Given the description of an element on the screen output the (x, y) to click on. 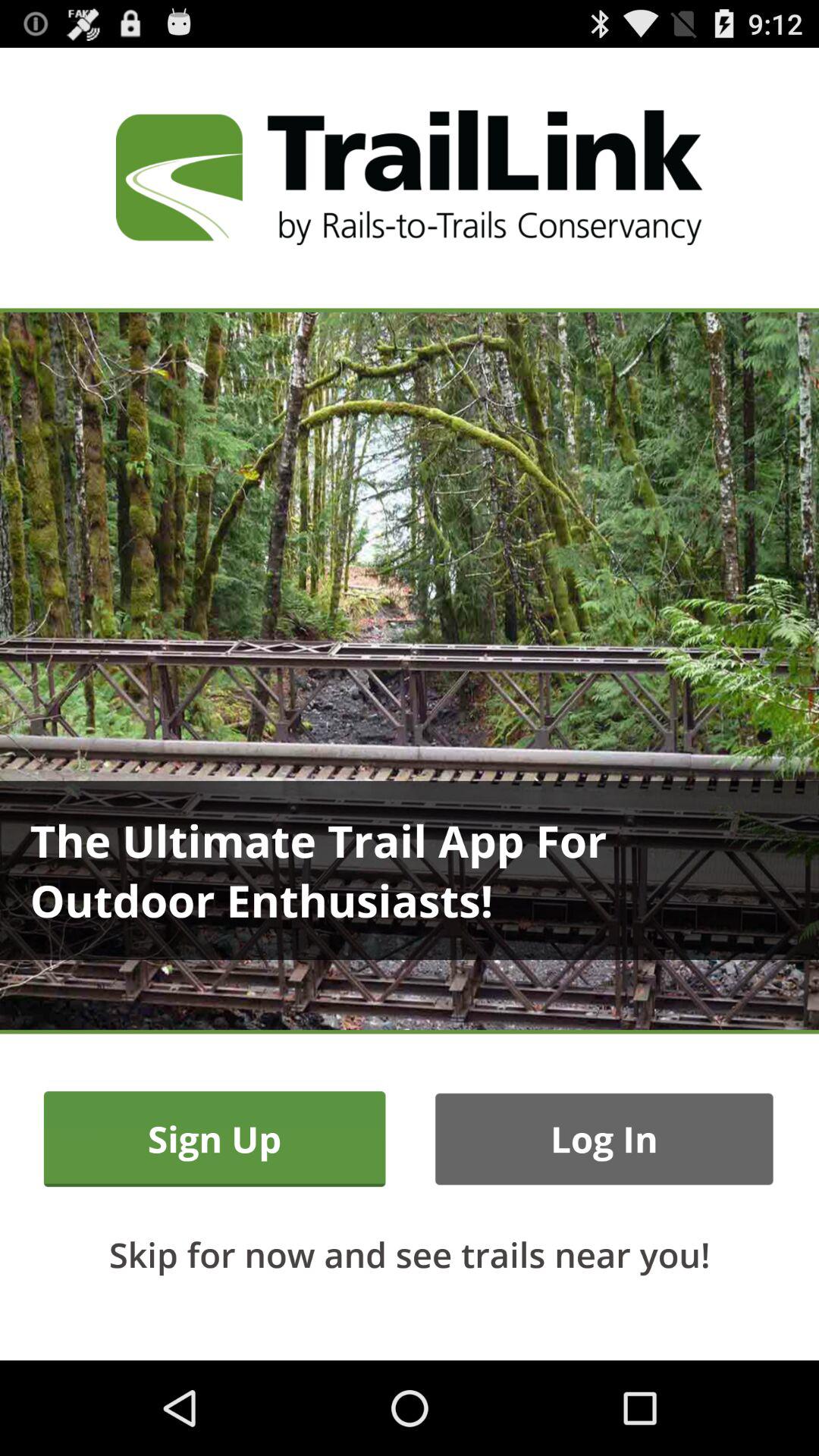
choose icon next to log in item (214, 1138)
